Given the description of an element on the screen output the (x, y) to click on. 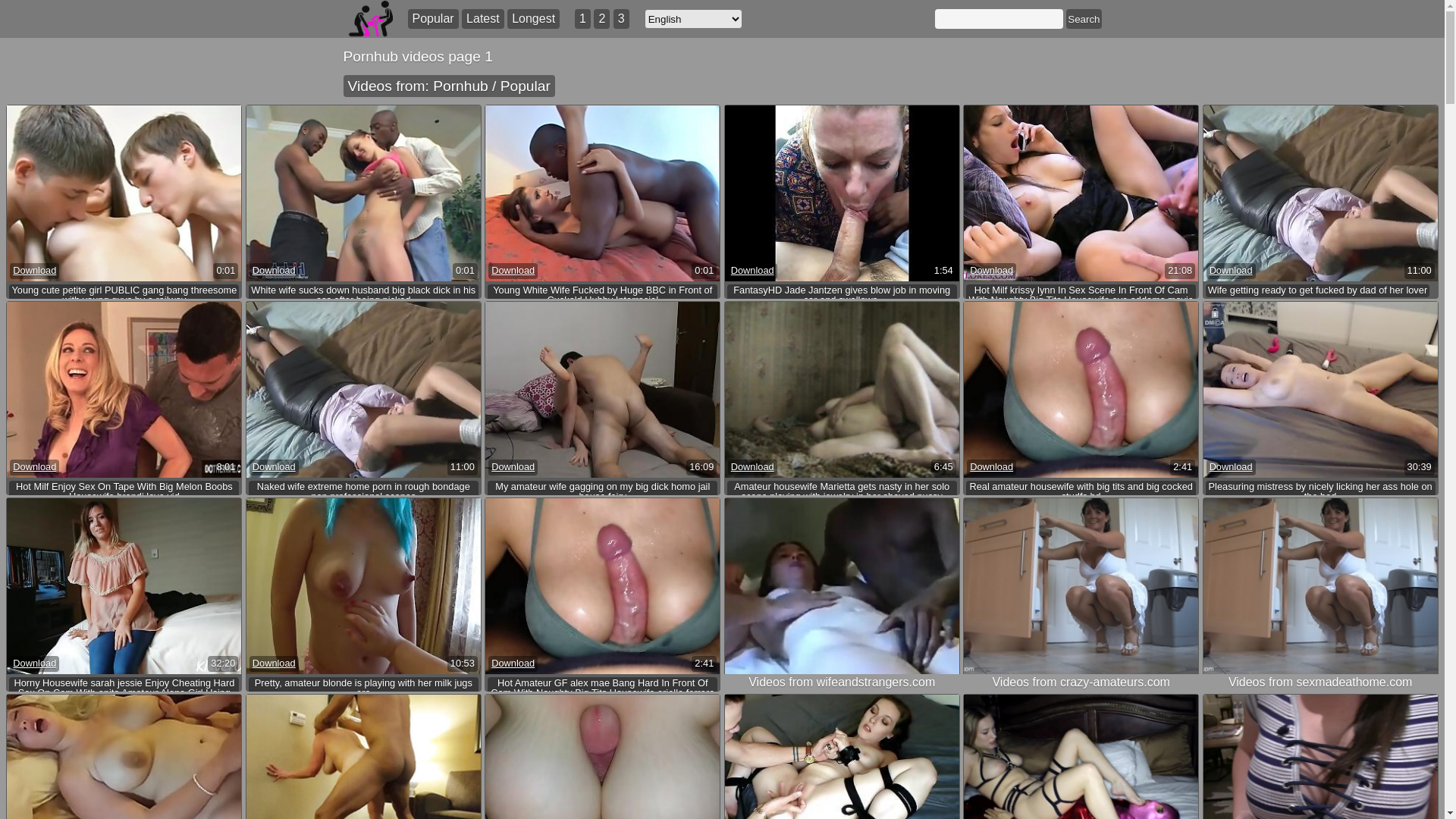
Download Element type: text (34, 663)
Download Element type: text (991, 467)
Download Element type: text (273, 271)
Download Element type: text (273, 663)
Longest Element type: text (533, 18)
Download Element type: text (34, 467)
Download Element type: text (752, 271)
Popular Element type: text (432, 18)
Search Element type: text (1083, 18)
Download Element type: text (752, 467)
Download Element type: text (1230, 271)
2 Element type: text (601, 18)
Download Element type: text (273, 467)
Latest Element type: text (482, 18)
1 Element type: text (582, 18)
Download Element type: text (1230, 467)
Download Element type: text (991, 271)
Download Element type: text (512, 467)
Popular Latest Longest Element type: text (483, 18)
3 Element type: text (621, 18)
Wife Element type: text (1217, 304)
Download Element type: text (34, 271)
Download Element type: text (512, 663)
Download Element type: text (512, 271)
